Given the description of an element on the screen output the (x, y) to click on. 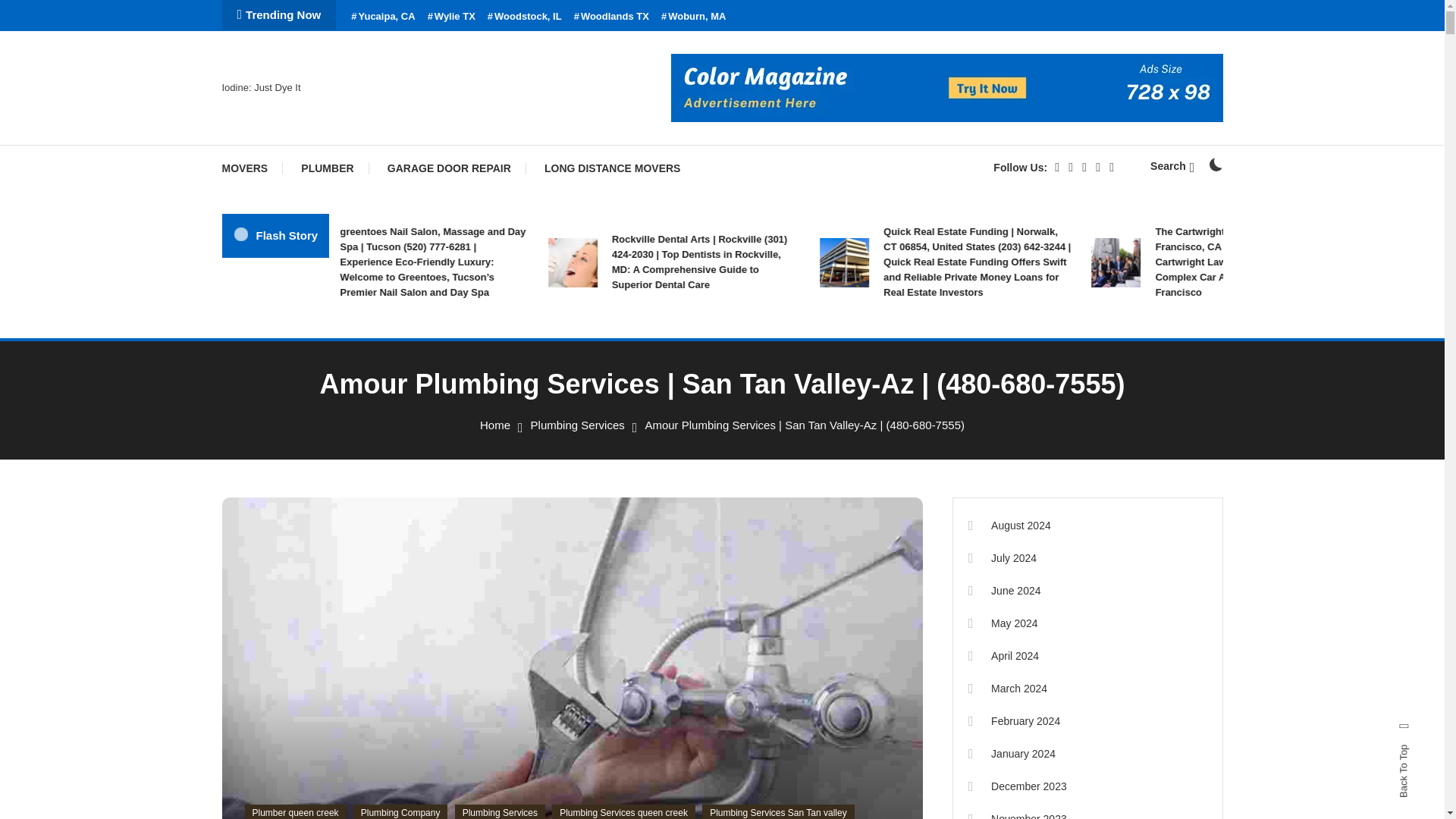
Woburn, MA (693, 16)
Search (768, 434)
LONG DISTANCE MOVERS (612, 167)
GARAGE DOOR REPAIR (448, 167)
Yucaipa, CA (382, 16)
Woodlands TX (611, 16)
Home (495, 424)
Skip To Content (40, 10)
MOVERS (251, 167)
Woodstock, IL (524, 16)
